Given the description of an element on the screen output the (x, y) to click on. 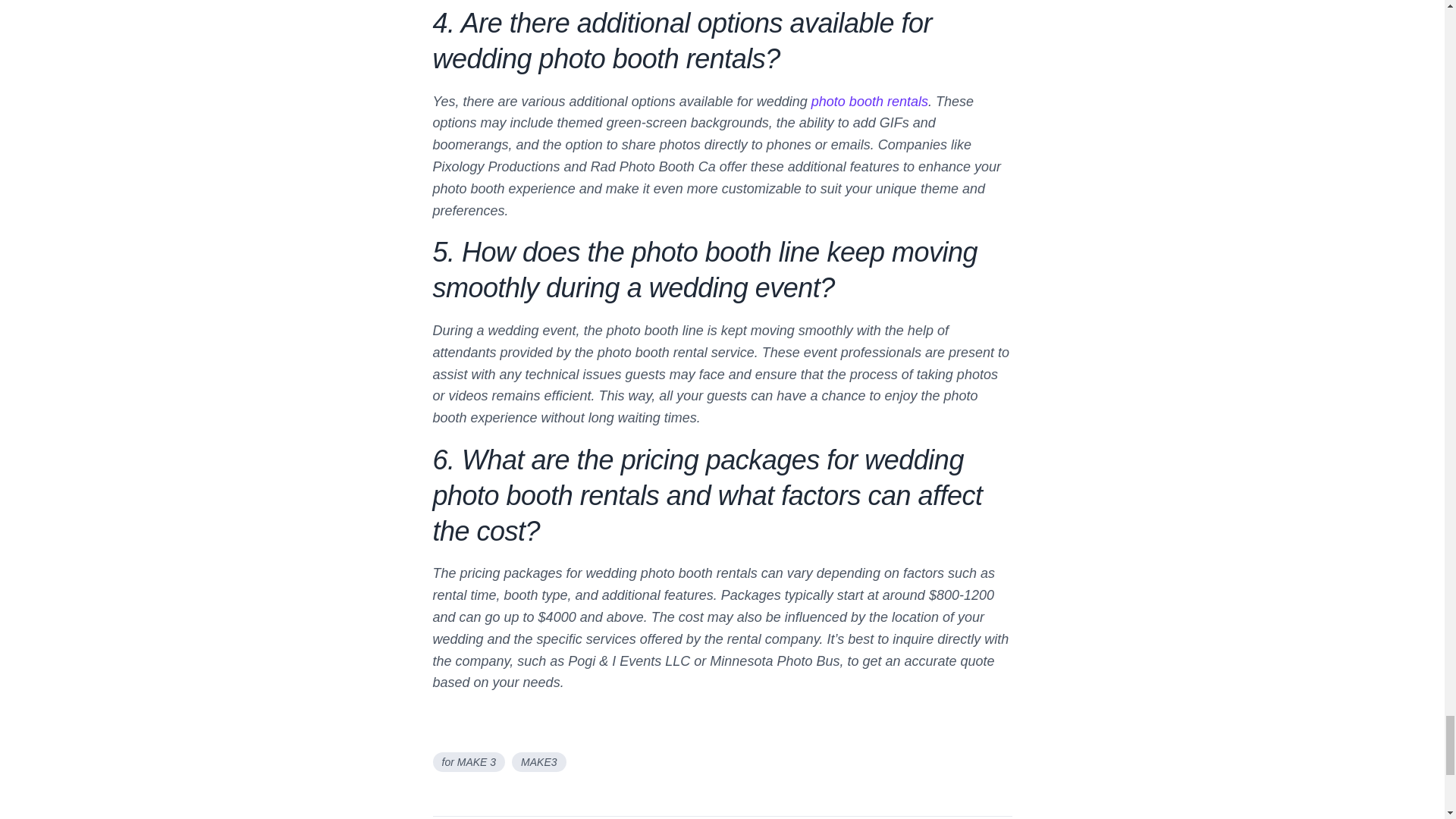
photo booth rentals (869, 101)
MAKE3 (539, 762)
for MAKE 3 (468, 762)
photo booth rentals (869, 101)
